Given the description of an element on the screen output the (x, y) to click on. 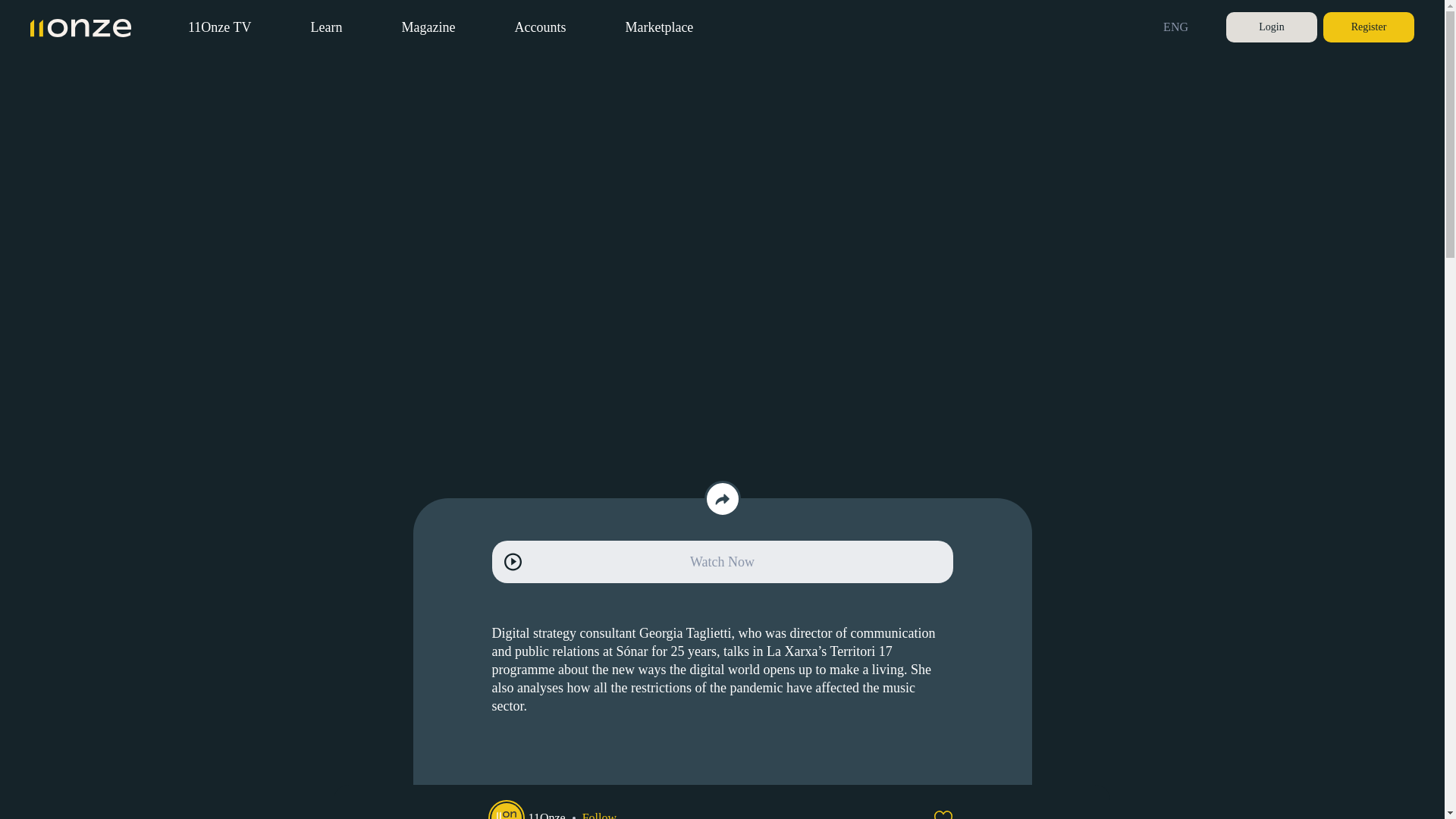
Accounts (539, 27)
Like (943, 814)
11Onze TV (218, 27)
Magazine (427, 27)
Learn (326, 27)
Register (1368, 27)
Marketplace (658, 27)
Login (1271, 27)
ENG (1180, 26)
